Given the description of an element on the screen output the (x, y) to click on. 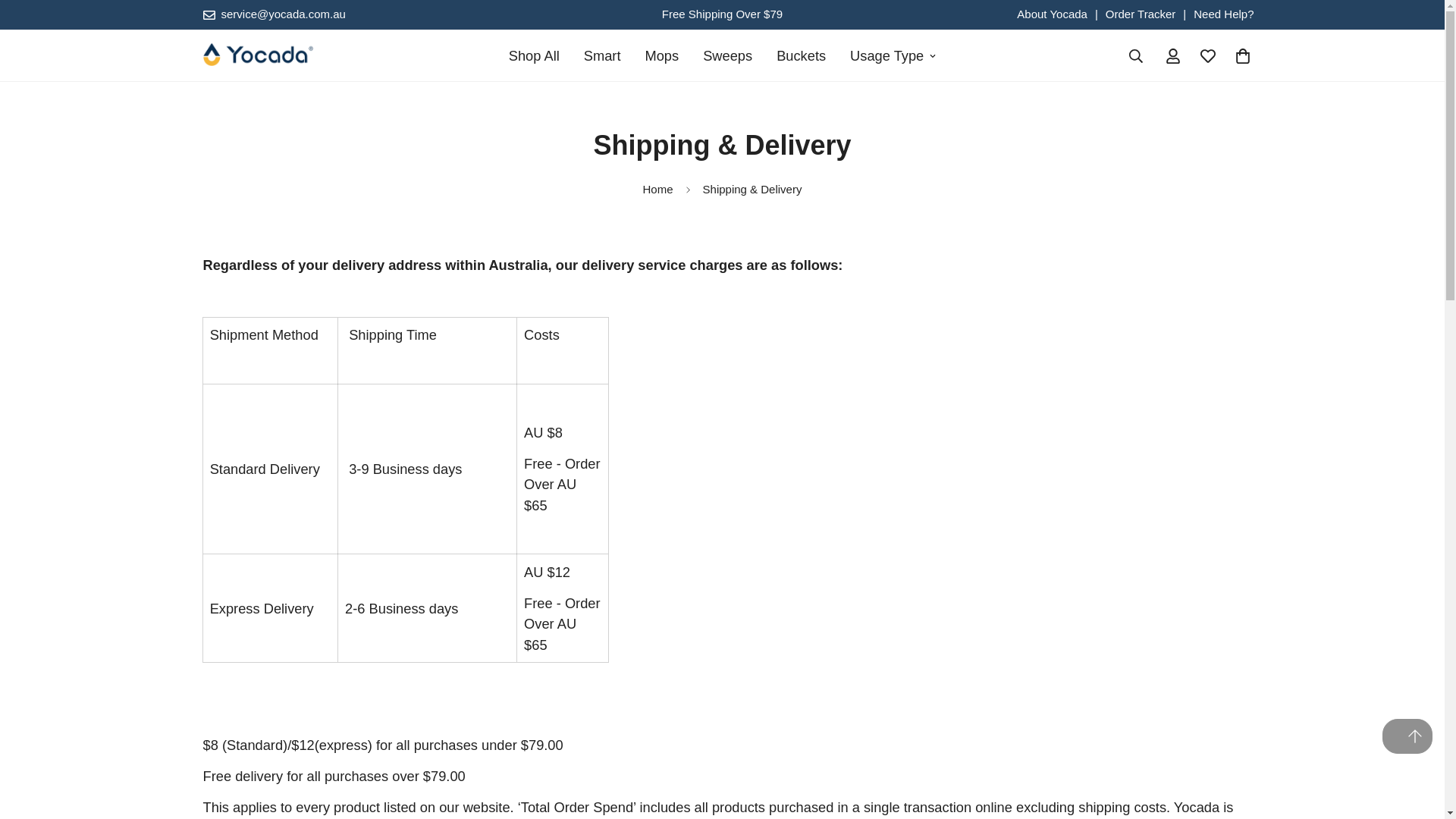
Yocada.com.au (258, 56)
Shop All (534, 55)
Need Help? (1223, 14)
Back to the home page (657, 189)
Home (657, 189)
About Yocada (1051, 14)
Sweeps (727, 55)
Buckets (801, 55)
Smart (602, 55)
Usage Type (892, 55)
Order Tracker (1140, 14)
Mops (660, 55)
